Given the description of an element on the screen output the (x, y) to click on. 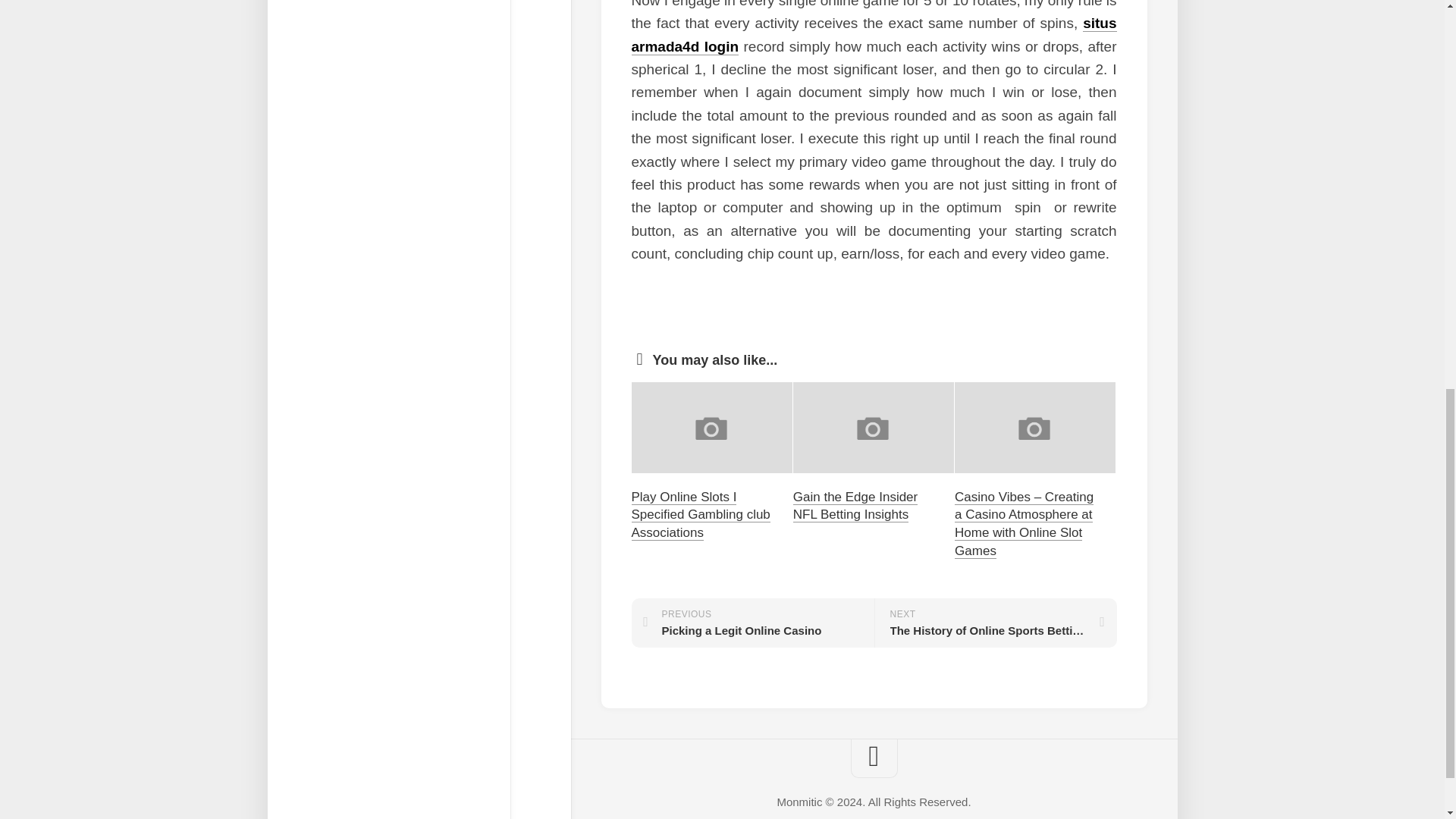
situs armada4d login (751, 622)
Play Online Slots I Specified Gambling club Associations (994, 622)
Gain the Edge Insider NFL Betting Insights (873, 34)
